Given the description of an element on the screen output the (x, y) to click on. 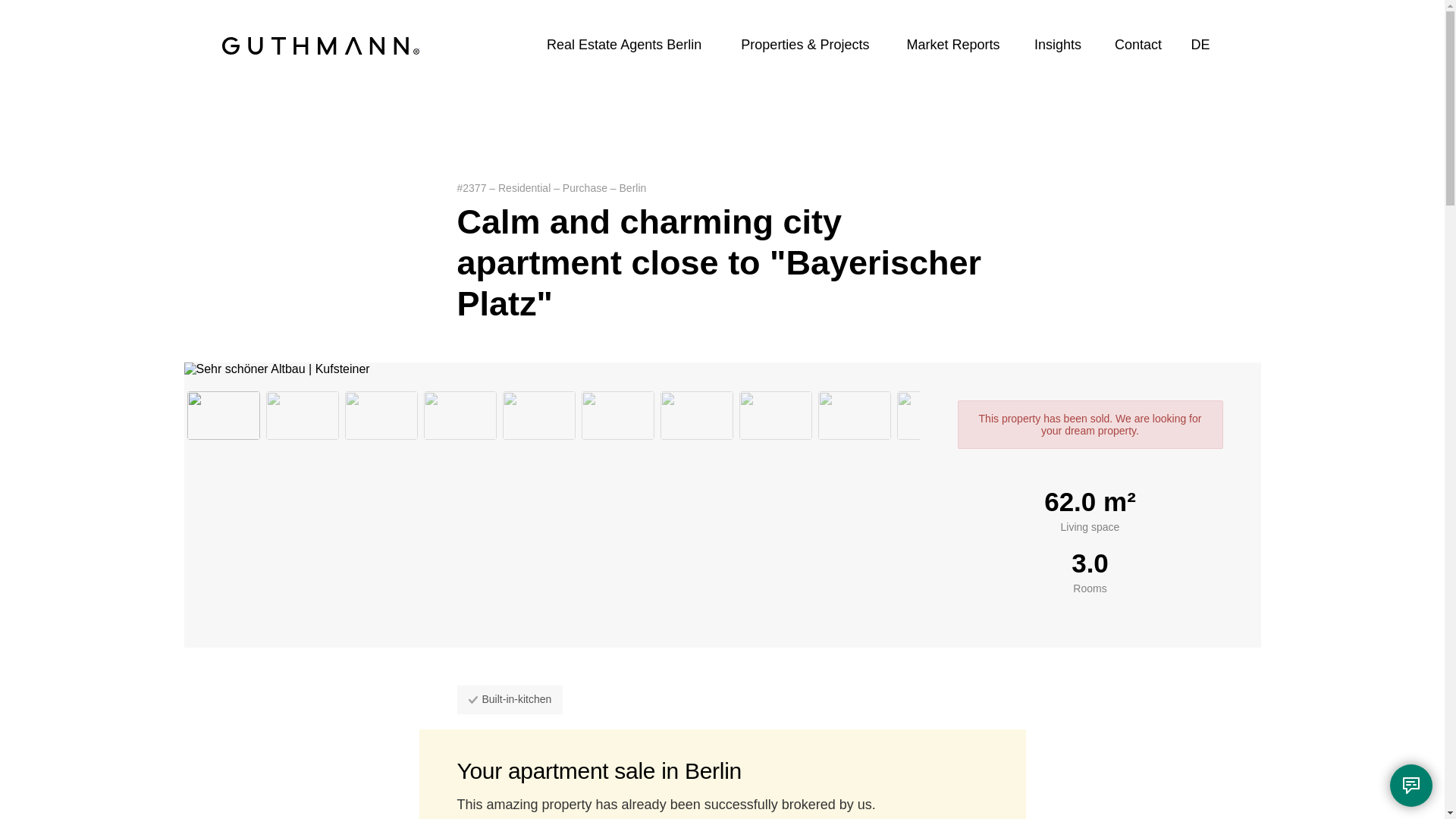
Insights (1056, 44)
Berlin Property Report  (952, 44)
Property Sales in Berlin (623, 44)
Real Estate Agents Berlin (623, 44)
Market Reports (952, 44)
